Given the description of an element on the screen output the (x, y) to click on. 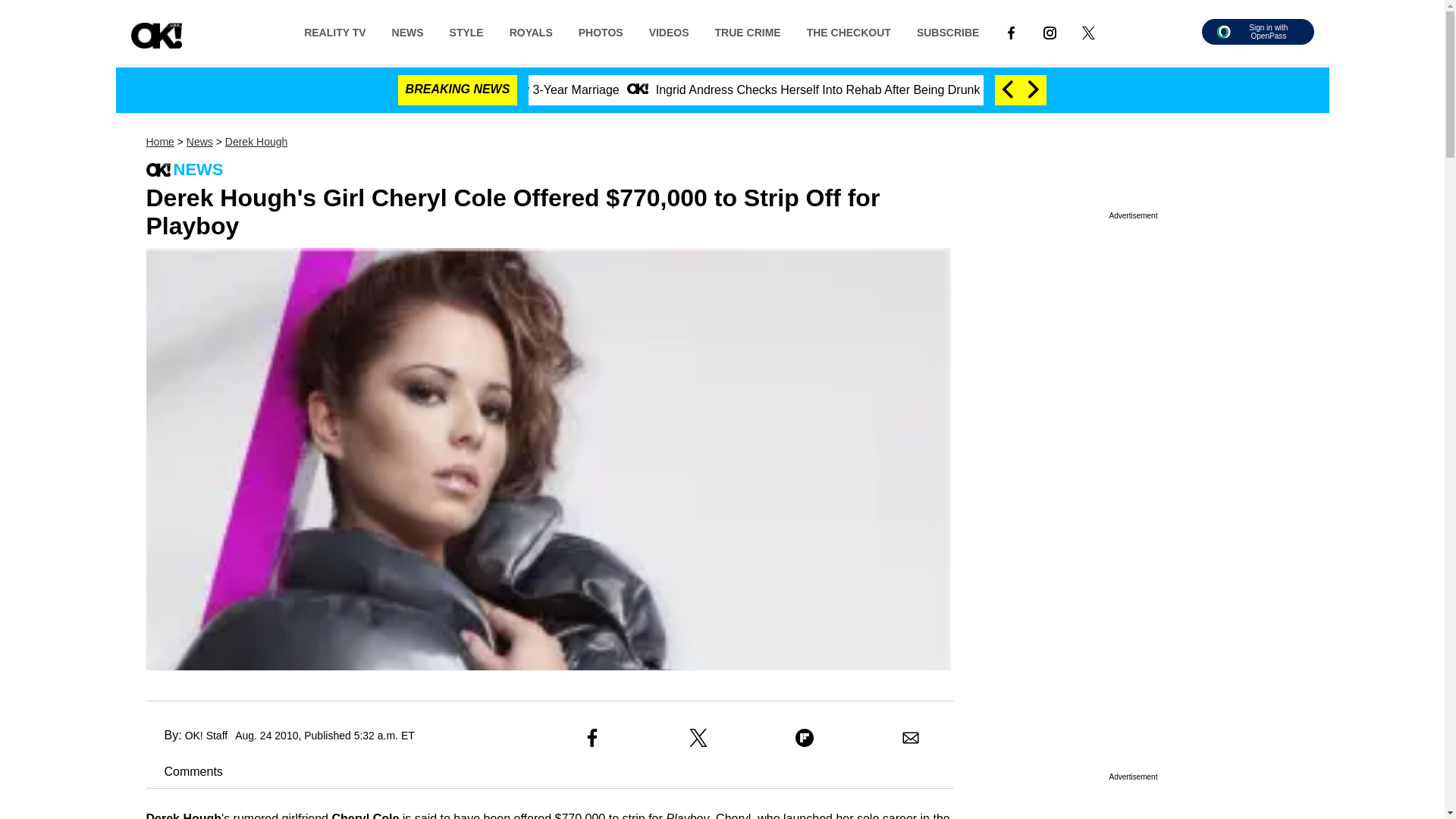
SUBSCRIBE (947, 31)
Share to Email (909, 737)
ROYALS (531, 31)
LINK TO FACEBOOK (1010, 31)
Sign in with OpenPass (1257, 31)
Share to Facebook (590, 737)
Comments (183, 771)
Link to Instagram (1049, 31)
THE CHECKOUT (848, 31)
Share to X (697, 737)
LINK TO INSTAGRAM (1049, 31)
VIDEOS (668, 31)
STYLE (466, 31)
OK! Staff (206, 735)
